Given the description of an element on the screen output the (x, y) to click on. 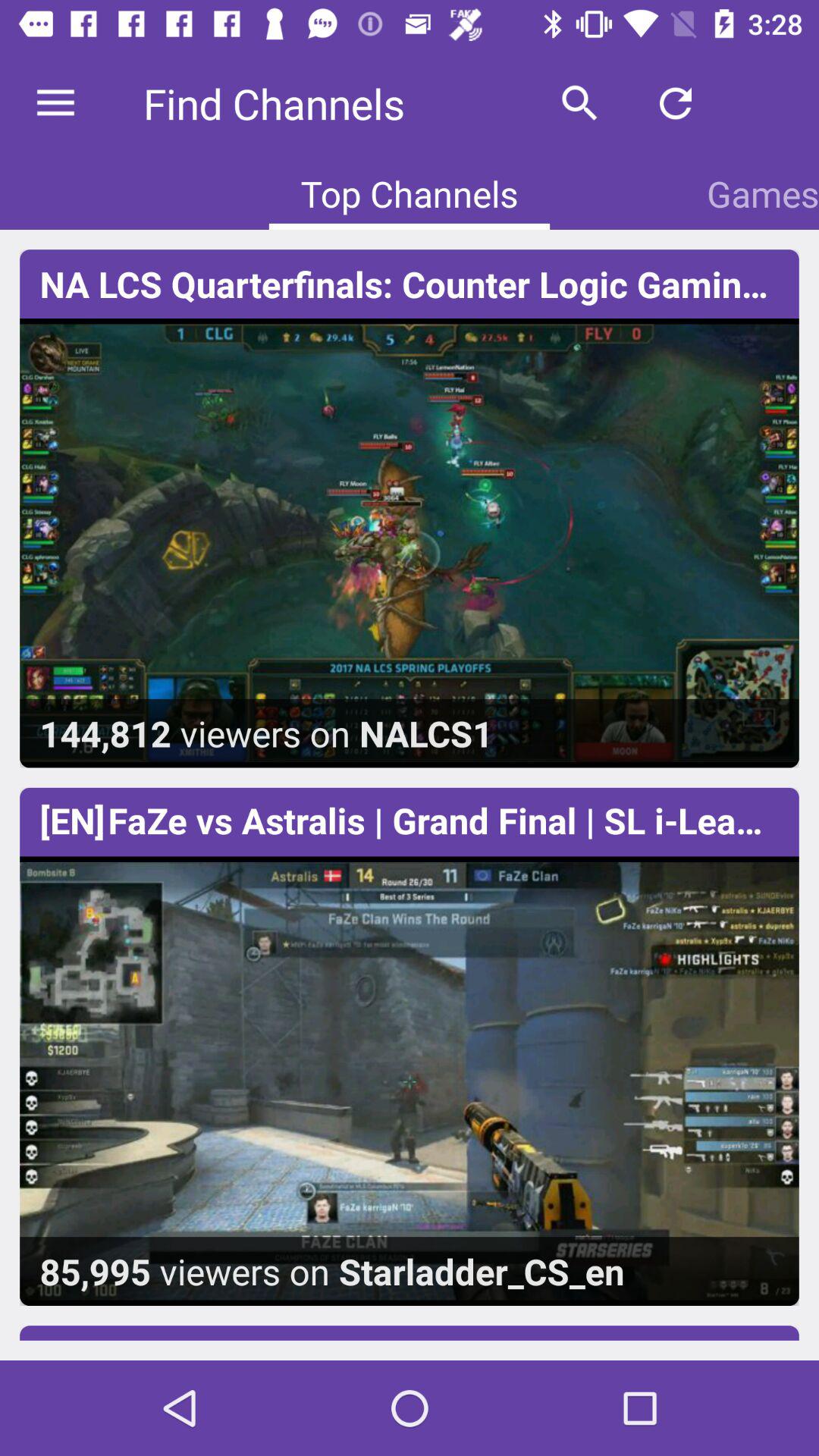
click the icon above the na lcs quarterfinals icon (762, 193)
